Given the description of an element on the screen output the (x, y) to click on. 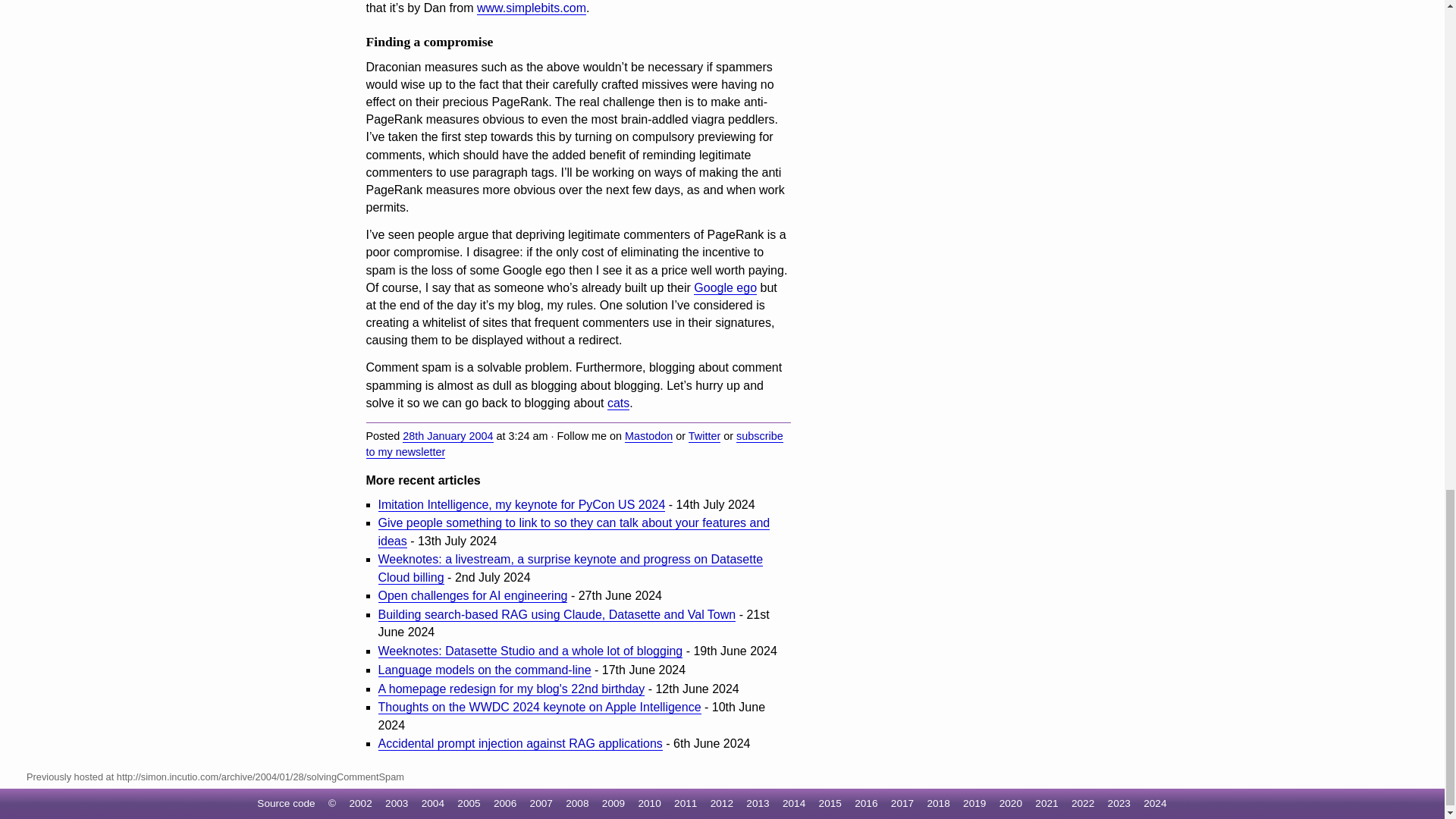
www.simplebits.com (531, 8)
28th January 2004 (448, 436)
Google ego (725, 287)
Thoughts on the WWDC 2024 keynote on Apple Intelligence (538, 707)
A homepage redesign for my blog's 22nd birthday (511, 689)
Weeknotes: Datasette Studio and a whole lot of blogging (529, 651)
2005 (468, 803)
subscribe to my newsletter (574, 443)
Source code (285, 803)
cats (617, 403)
2006 (504, 803)
Accidental prompt injection against RAG applications (519, 744)
2003 (396, 803)
